Given the description of an element on the screen output the (x, y) to click on. 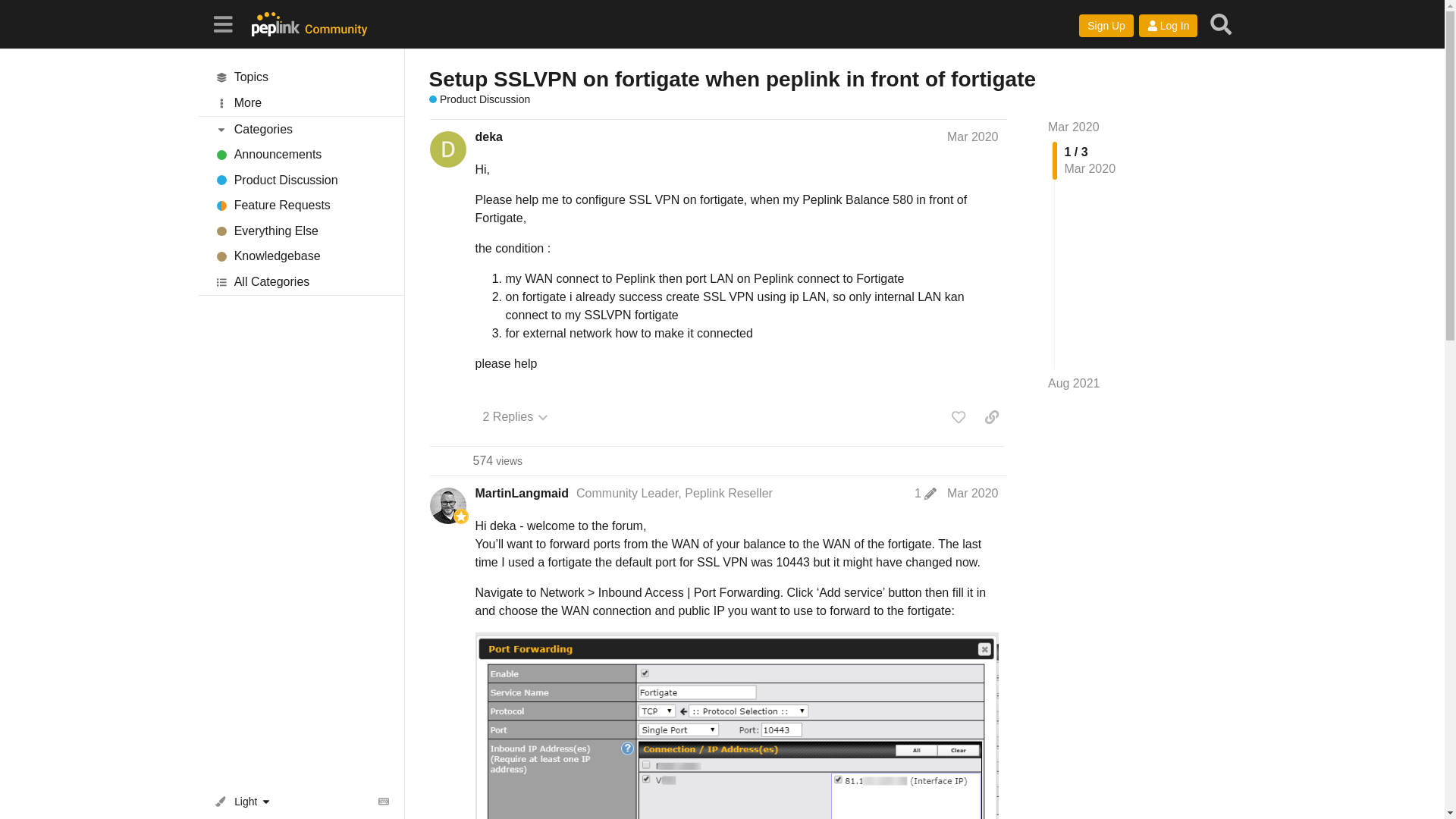
Sidebar (222, 23)
Aug 2021 (1074, 383)
More (301, 103)
Community Leader, Peplink Reseller (674, 492)
deka (488, 136)
1 (925, 493)
Search (1220, 23)
Everything Else (301, 231)
Topics (301, 77)
Setup SSLVPN on fortigate when peplink in front of fortigate (732, 78)
